Given the description of an element on the screen output the (x, y) to click on. 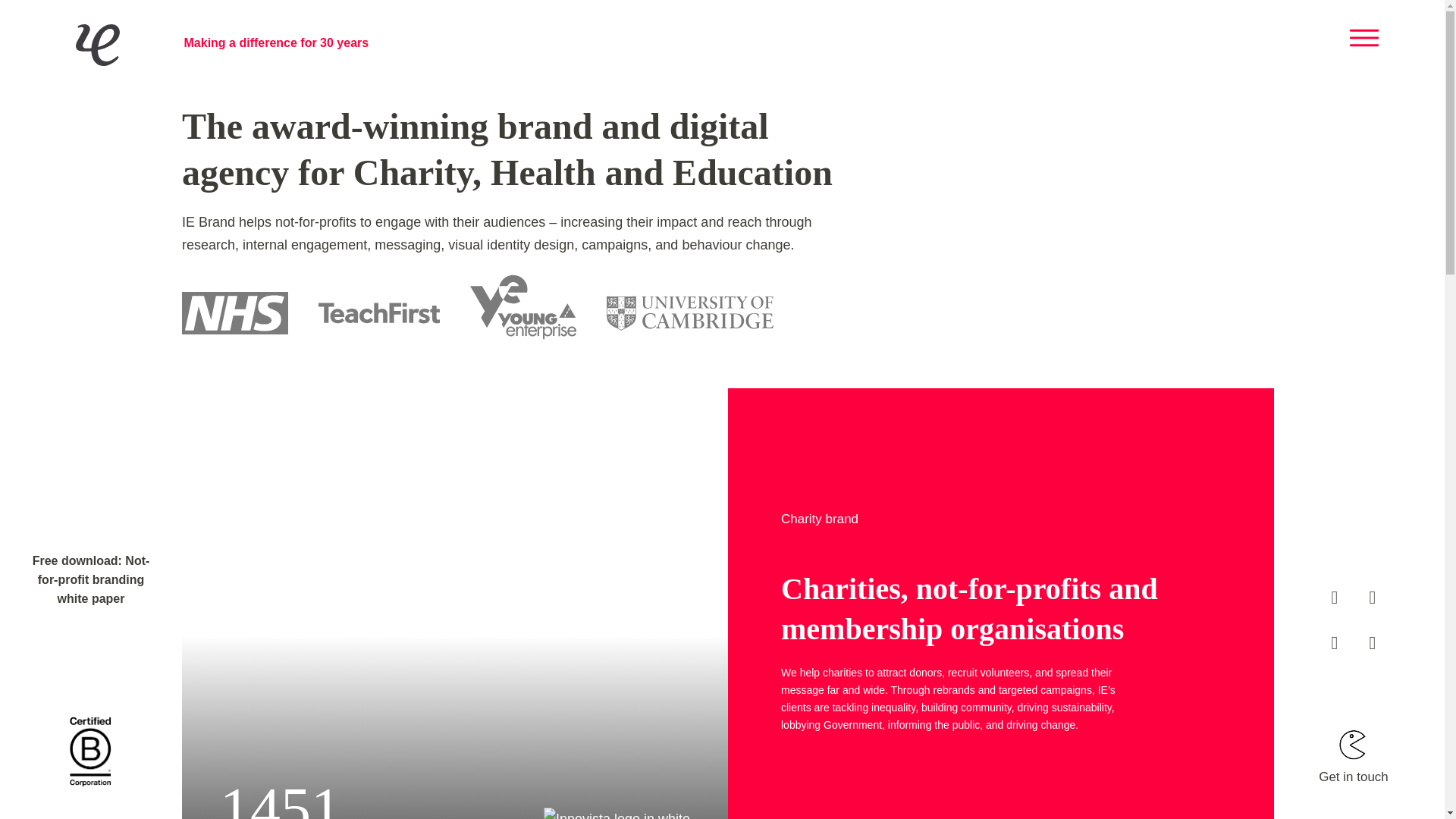
Home (65, 37)
IE Brand (65, 37)
Get in touch (1353, 733)
Charities, not-for-profits and membership organisations (989, 601)
linkedin (1372, 642)
facebook (1335, 597)
X (1364, 37)
Free download: Not-for-profit branding white paper (90, 591)
twitter (1372, 597)
